Given the description of an element on the screen output the (x, y) to click on. 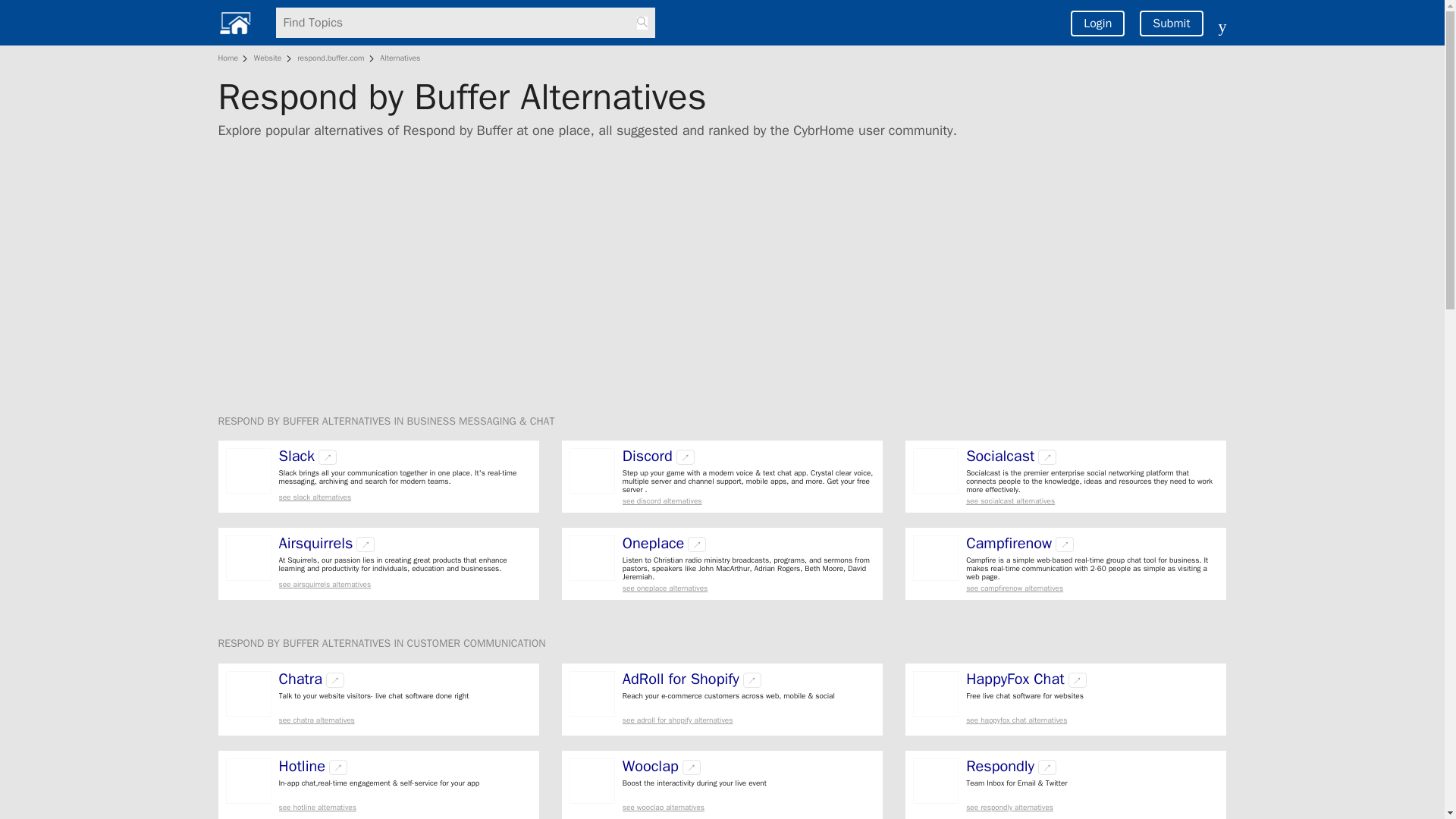
Home (230, 57)
see airsquirrels alternatives (405, 583)
Oneplace (653, 543)
see chatra alternatives (405, 719)
Submit (1171, 23)
RESPOND BY BUFFER (269, 643)
Slack (297, 456)
Chatra (301, 678)
Discord (647, 456)
